Given the description of an element on the screen output the (x, y) to click on. 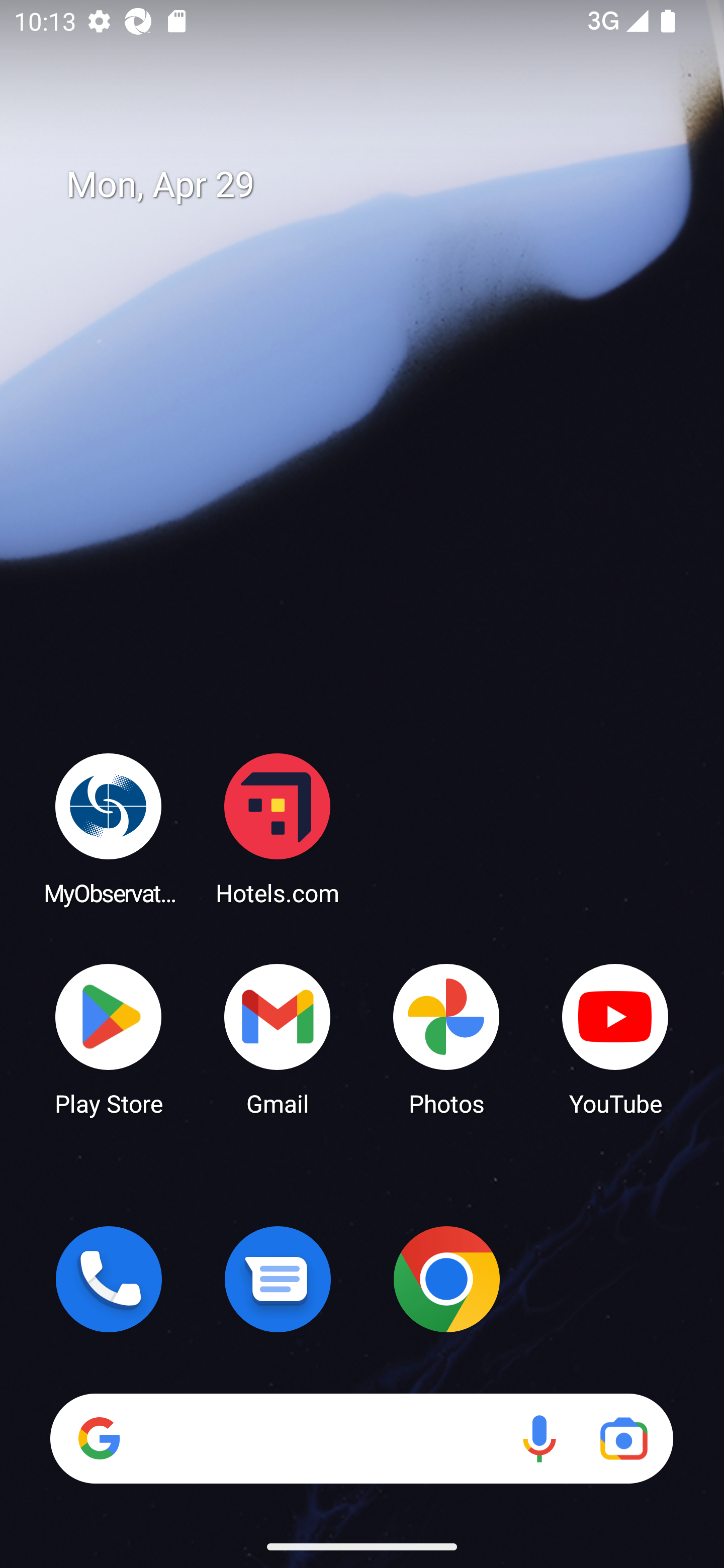
Mon, Apr 29 (375, 184)
MyObservatory (108, 828)
Hotels.com (277, 828)
Play Store (108, 1038)
Gmail (277, 1038)
Photos (445, 1038)
YouTube (615, 1038)
Phone (108, 1279)
Messages (277, 1279)
Chrome (446, 1279)
Search Voice search Google Lens (361, 1438)
Voice search (539, 1438)
Google Lens (623, 1438)
